Given the description of an element on the screen output the (x, y) to click on. 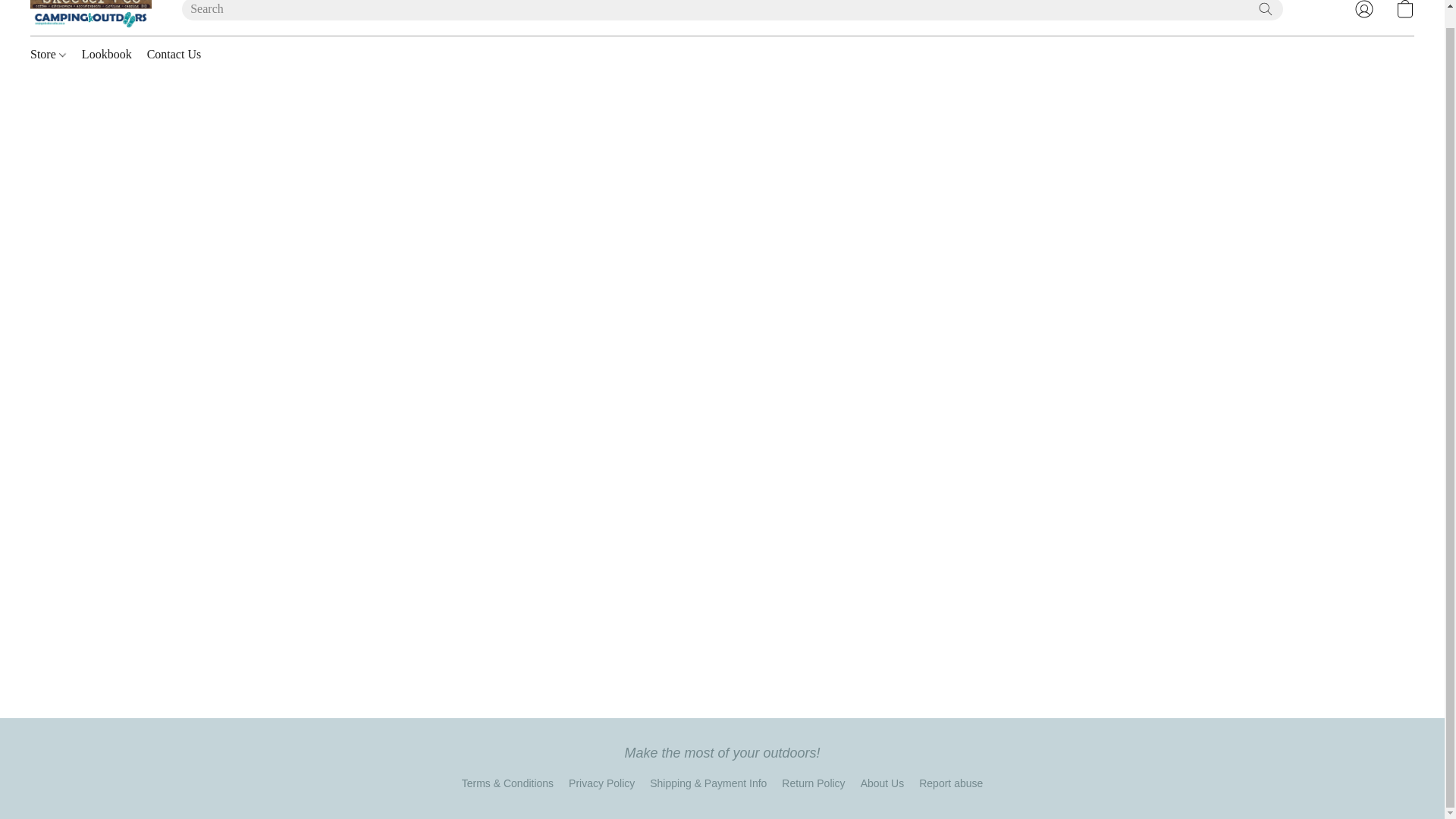
Go to your shopping cart (1404, 12)
Privacy Policy (601, 782)
Report abuse (950, 782)
Contact Us (170, 54)
Return Policy (812, 782)
About Us (882, 782)
Store (52, 54)
Lookbook (106, 54)
